Given the description of an element on the screen output the (x, y) to click on. 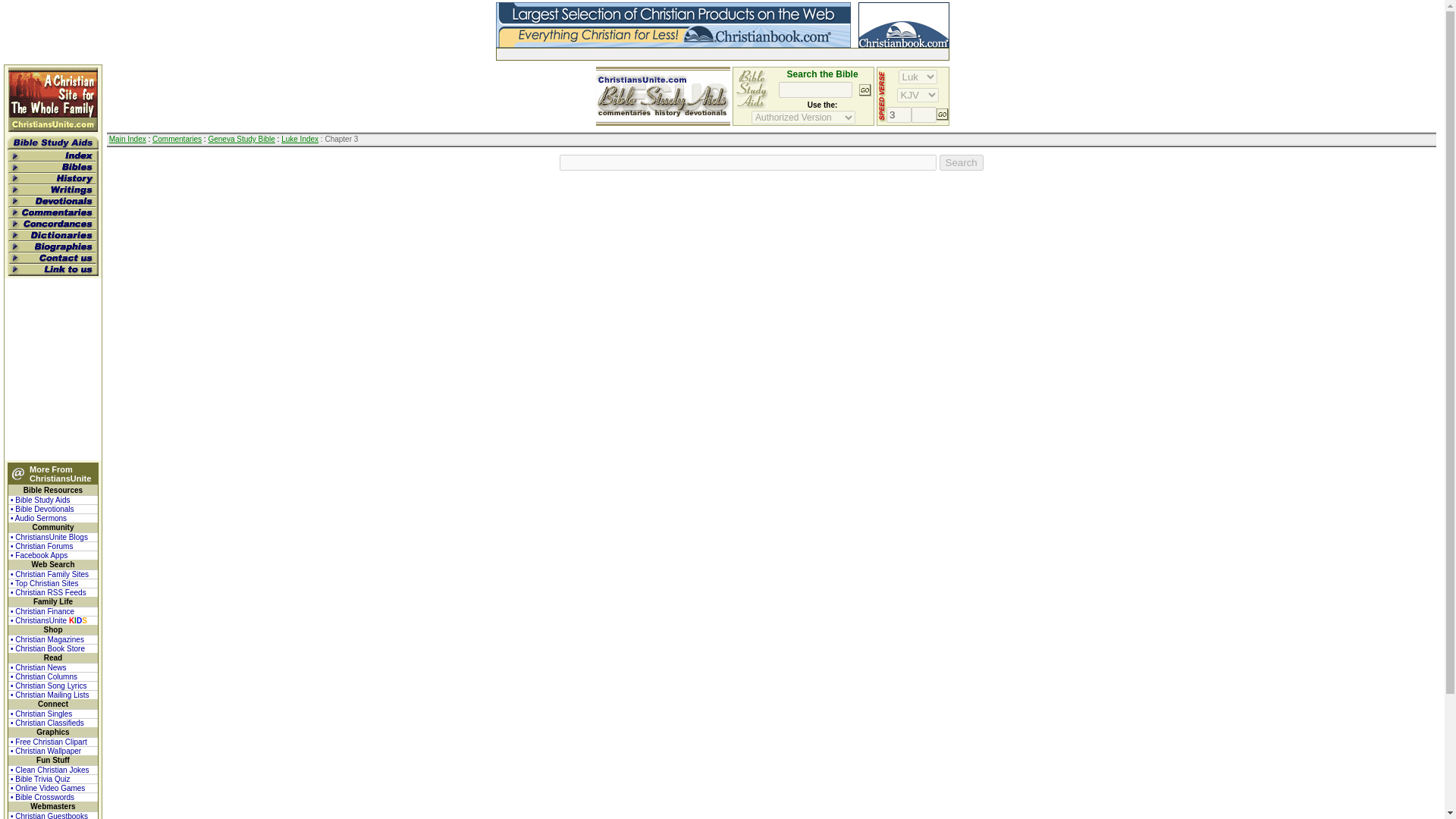
Search (961, 162)
Commentaries (177, 139)
Main Index (128, 139)
Search (961, 162)
Luke Index (299, 139)
3 (898, 114)
Advertisement (673, 53)
Geneva Study Bible (241, 139)
